Given the description of an element on the screen output the (x, y) to click on. 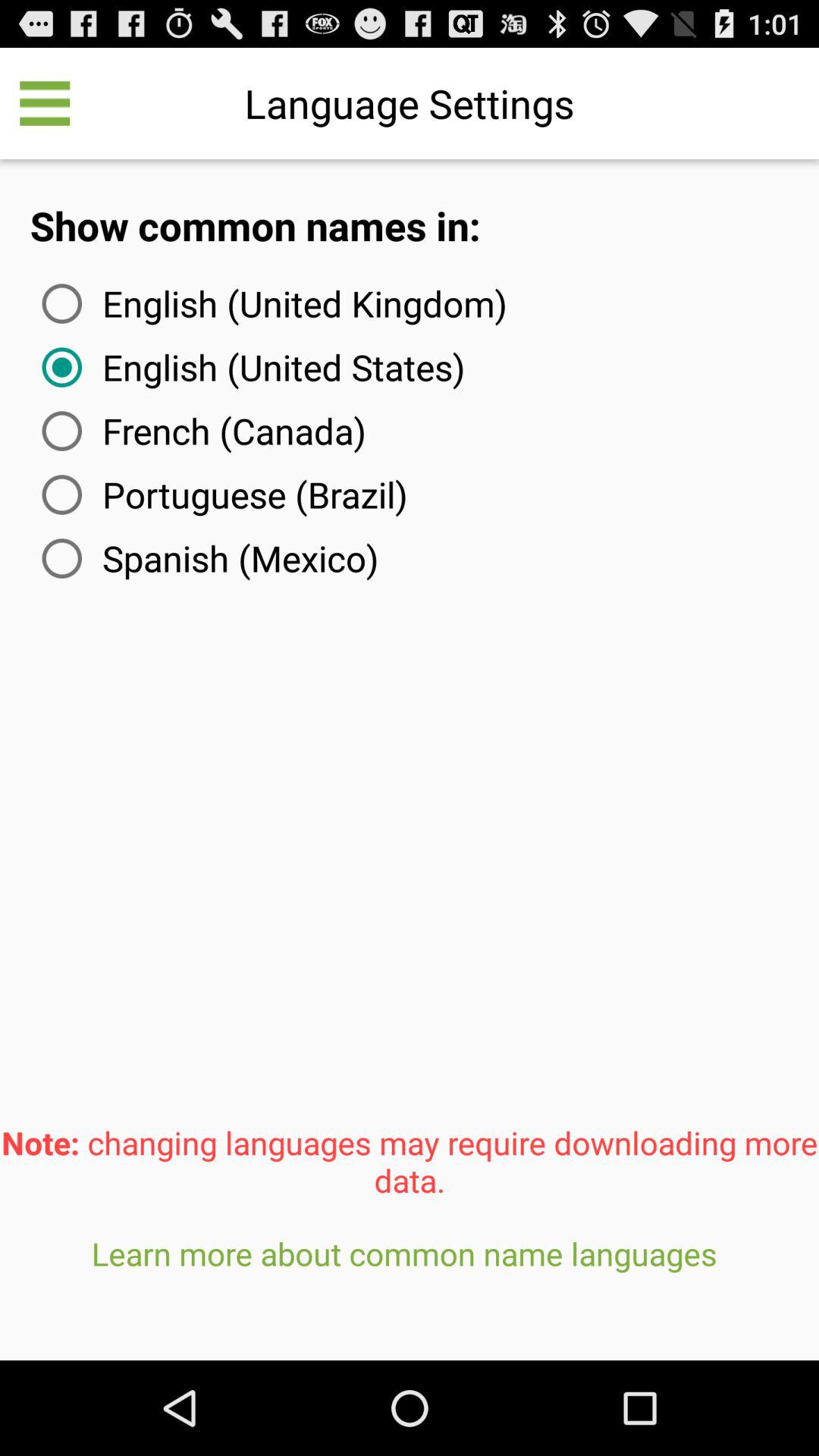
click item below french (canada) icon (221, 494)
